Given the description of an element on the screen output the (x, y) to click on. 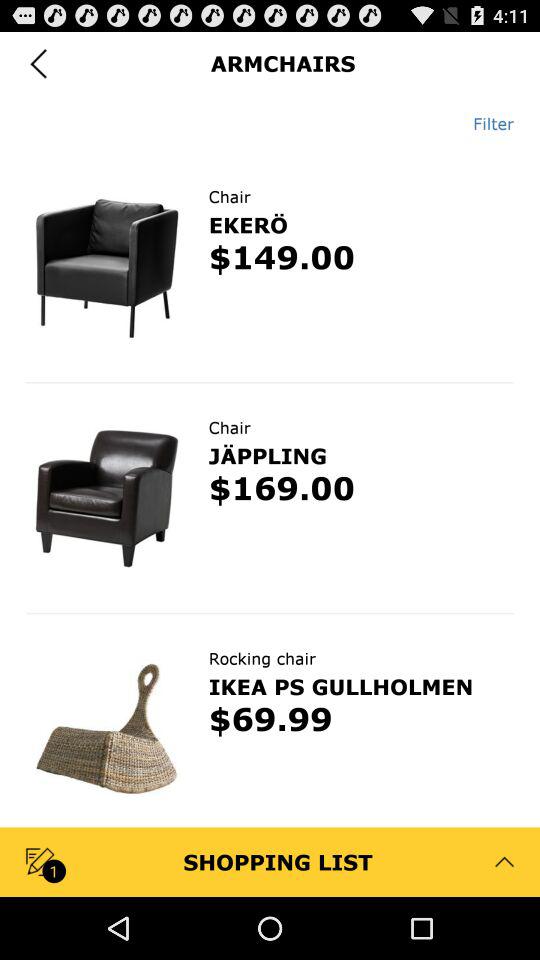
turn off icon below the chair item (248, 224)
